Given the description of an element on the screen output the (x, y) to click on. 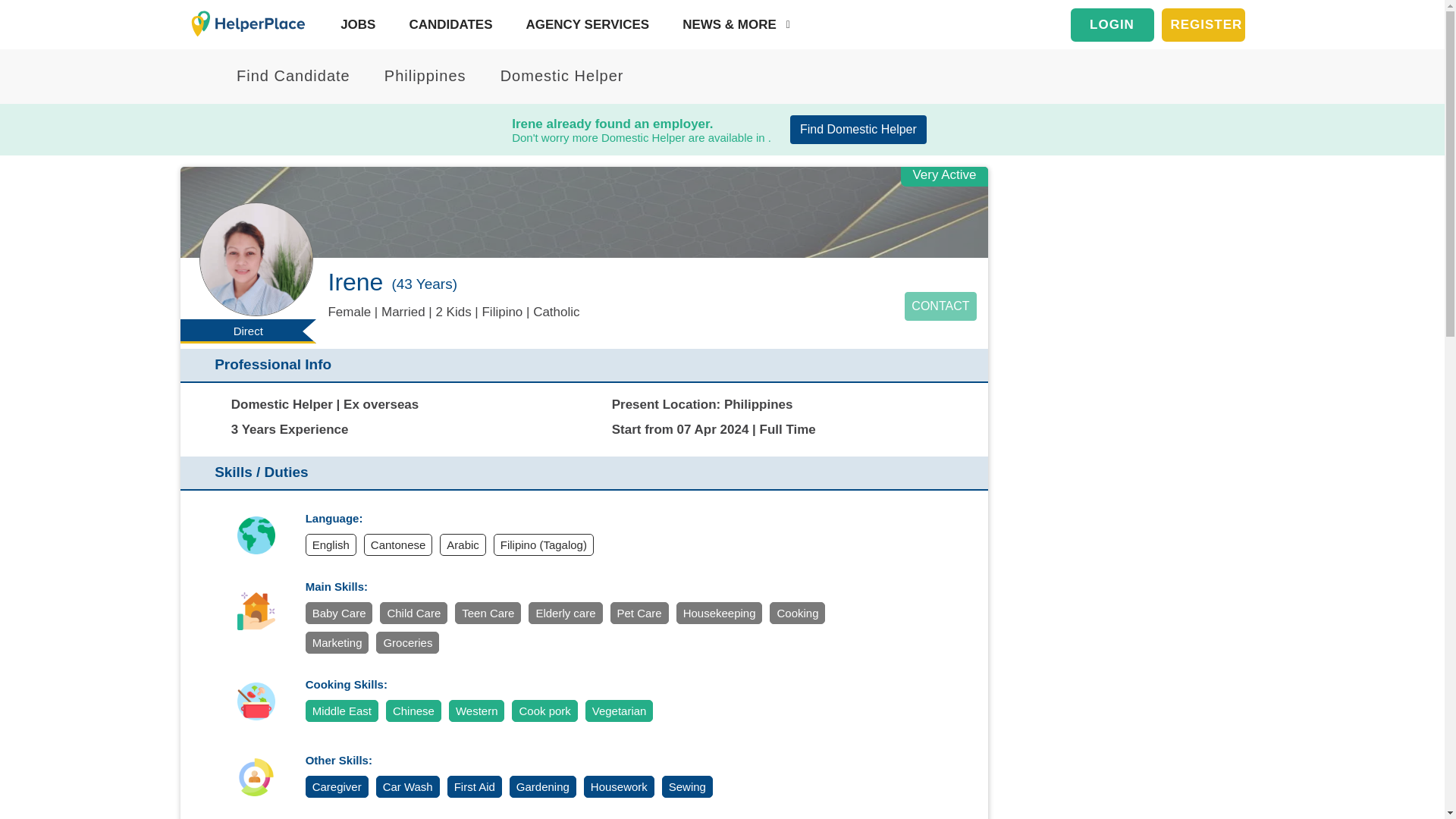
Domestic Helper (552, 75)
JOBS (354, 24)
CANDIDATES (446, 24)
REGISTER (1202, 23)
AGENCY SERVICES (583, 24)
CONTACT (939, 306)
Philippines (418, 75)
LOGIN (1112, 23)
Find Candidate (286, 75)
Find Domestic Helper (858, 129)
